Given the description of an element on the screen output the (x, y) to click on. 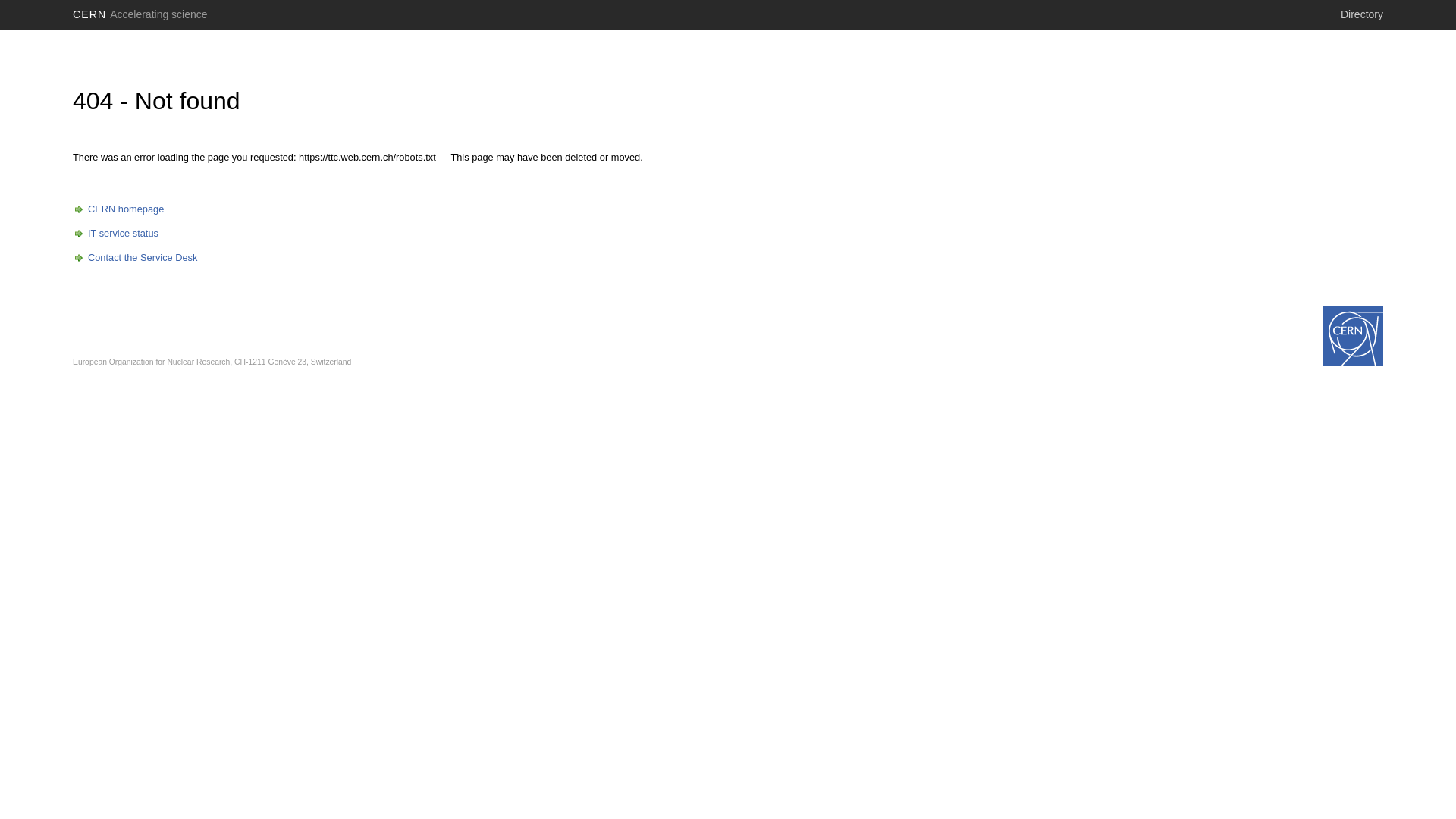
Directory Element type: text (1361, 14)
Contact the Service Desk Element type: text (134, 257)
home.cern Element type: hover (1352, 335)
CERN homepage Element type: text (117, 208)
IT service status Element type: text (115, 232)
CERN Accelerating science Element type: text (139, 14)
